Given the description of an element on the screen output the (x, y) to click on. 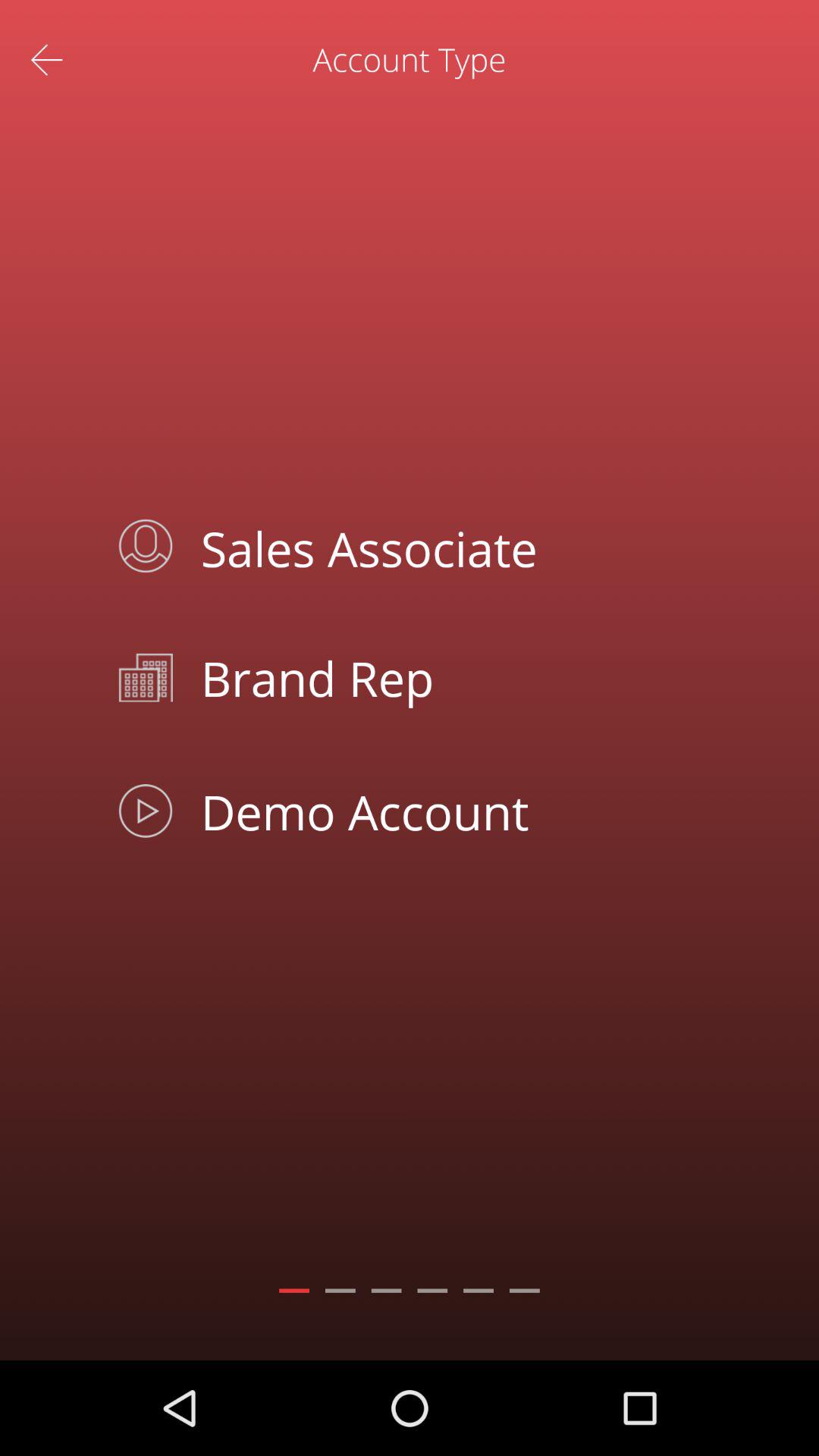
choose sales associate (444, 546)
